Given the description of an element on the screen output the (x, y) to click on. 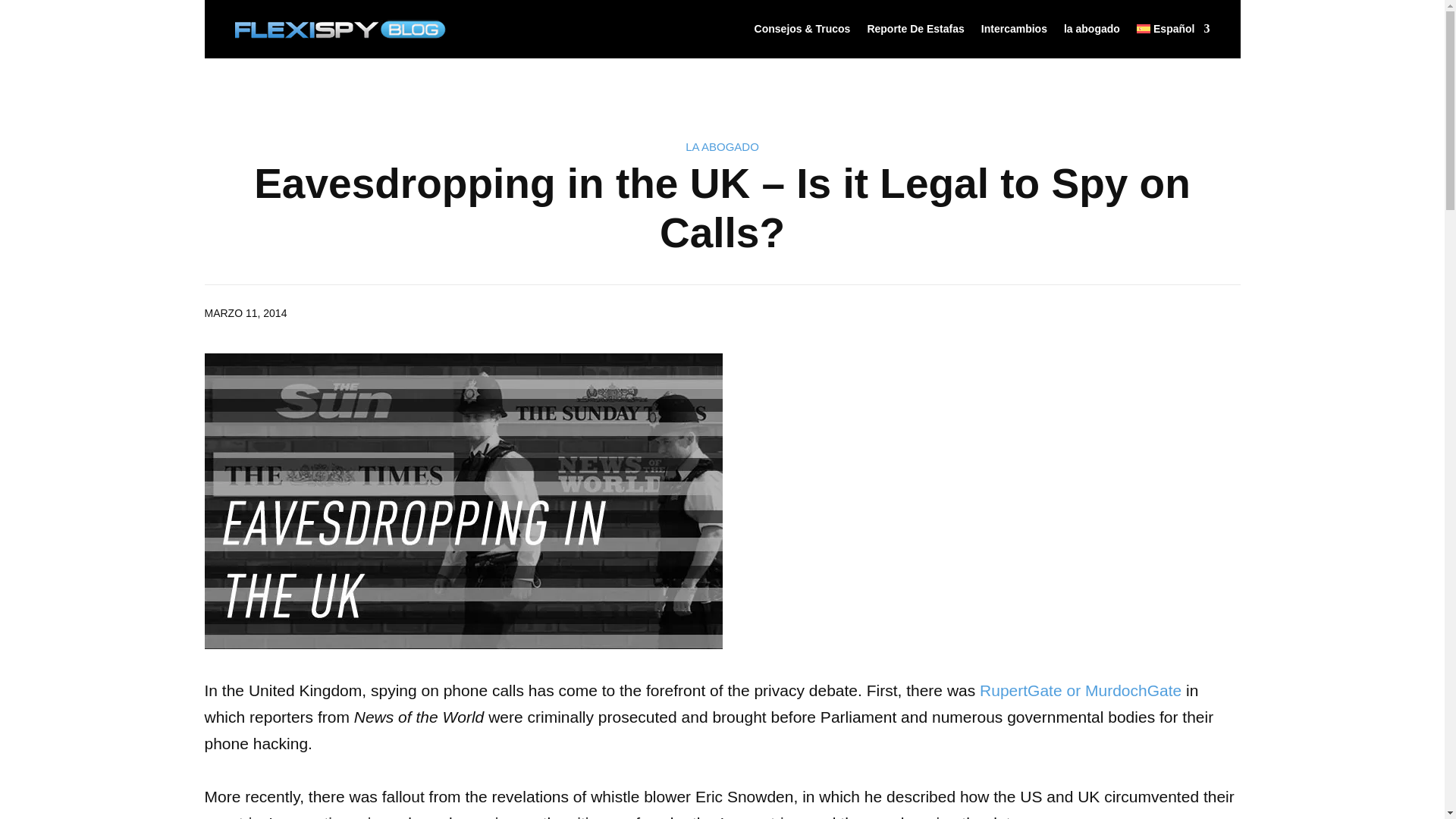
Intercambios (1013, 28)
RupertGate or MurdochGate (1079, 690)
la abogado (1091, 28)
LA ABOGADO (721, 146)
Reporte De Estafas (914, 28)
